Given the description of an element on the screen output the (x, y) to click on. 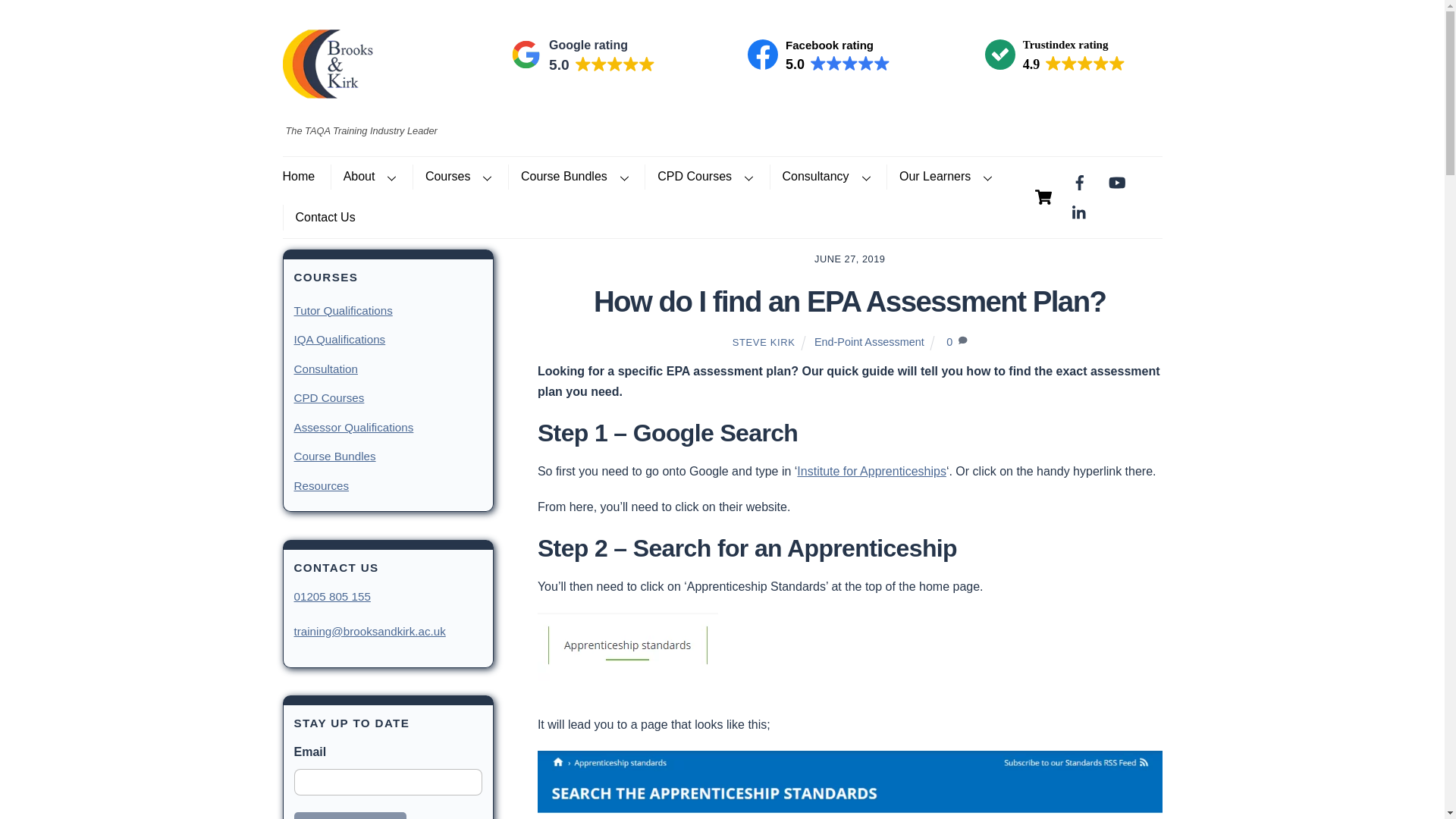
Courses (458, 177)
Home (304, 177)
apprenticeship standards - Brooks and Kirk (627, 646)
Cart (1042, 196)
apprenticeship standards search - Brooks and Kirk (849, 785)
SIGN ME UP (350, 815)
About (369, 177)
Course Bundles (575, 177)
Brooks and Kirk (818, 64)
CPD Courses (327, 101)
